Given the description of an element on the screen output the (x, y) to click on. 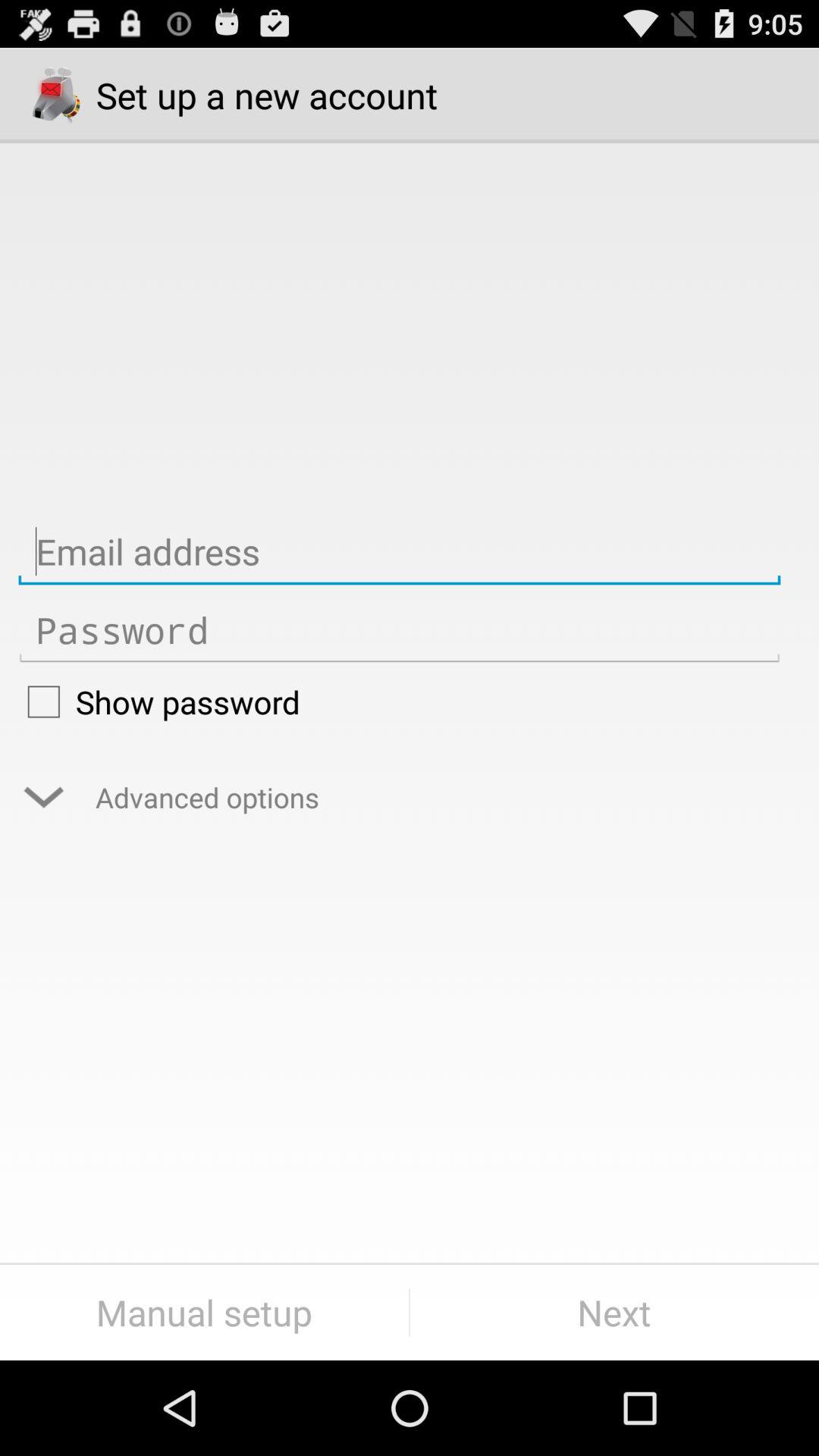
click show password checkbox (399, 701)
